Given the description of an element on the screen output the (x, y) to click on. 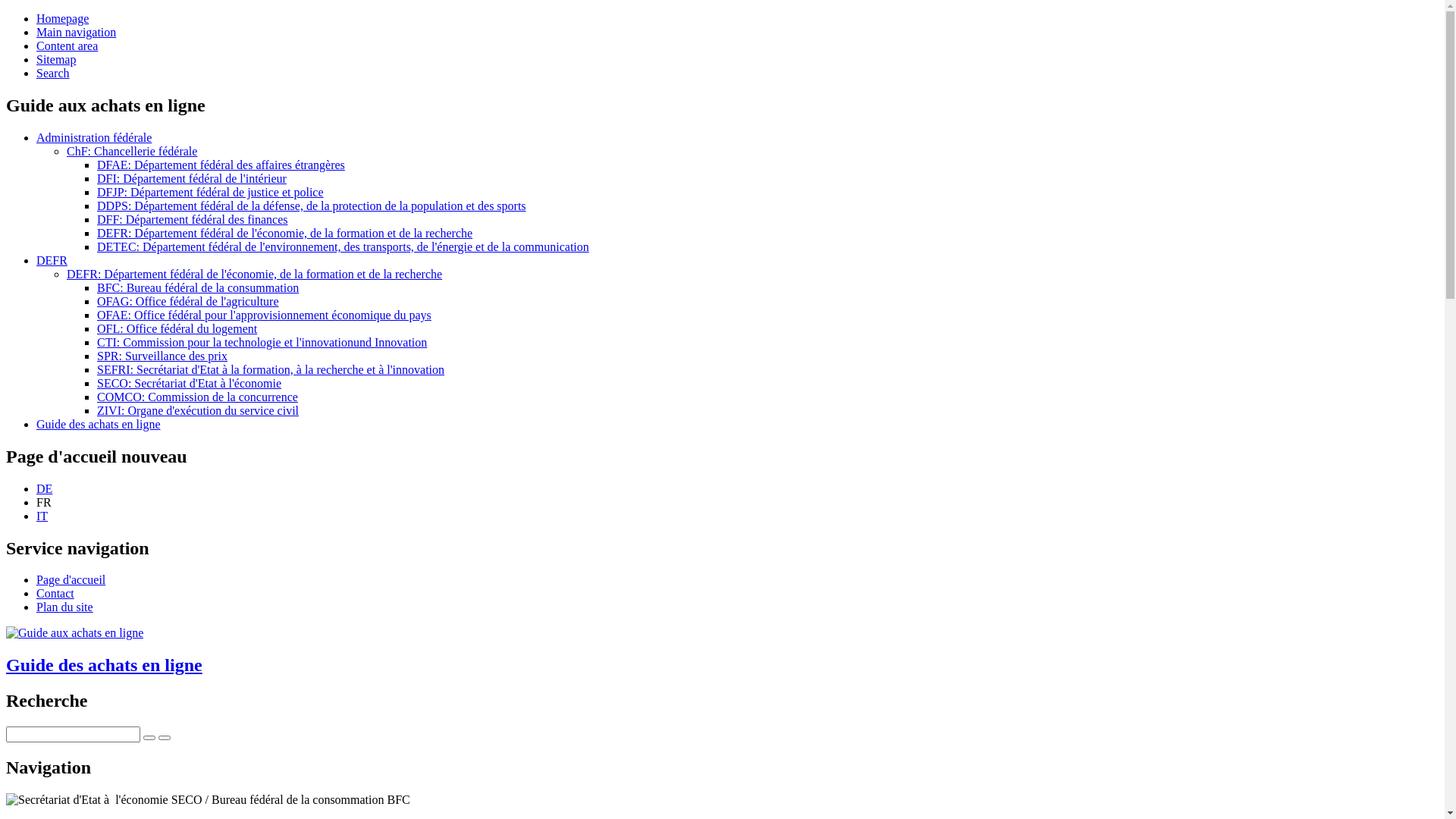
SPR: Surveillance des prix Element type: text (162, 355)
Sitemap Element type: text (55, 59)
Homepage Element type: text (62, 18)
Search Element type: text (52, 72)
FR Element type: text (43, 501)
Contact Element type: text (55, 592)
DE Element type: text (44, 488)
Page d'accueil Element type: text (70, 579)
Guide des achats en ligne Element type: text (722, 650)
Main navigation Element type: text (76, 31)
IT Element type: text (41, 515)
Content area Element type: text (66, 45)
Plan du site Element type: text (64, 606)
COMCO: Commission de la concurrence Element type: text (197, 396)
Guide des achats en ligne Element type: text (98, 423)
DEFR Element type: text (51, 260)
